Given the description of an element on the screen output the (x, y) to click on. 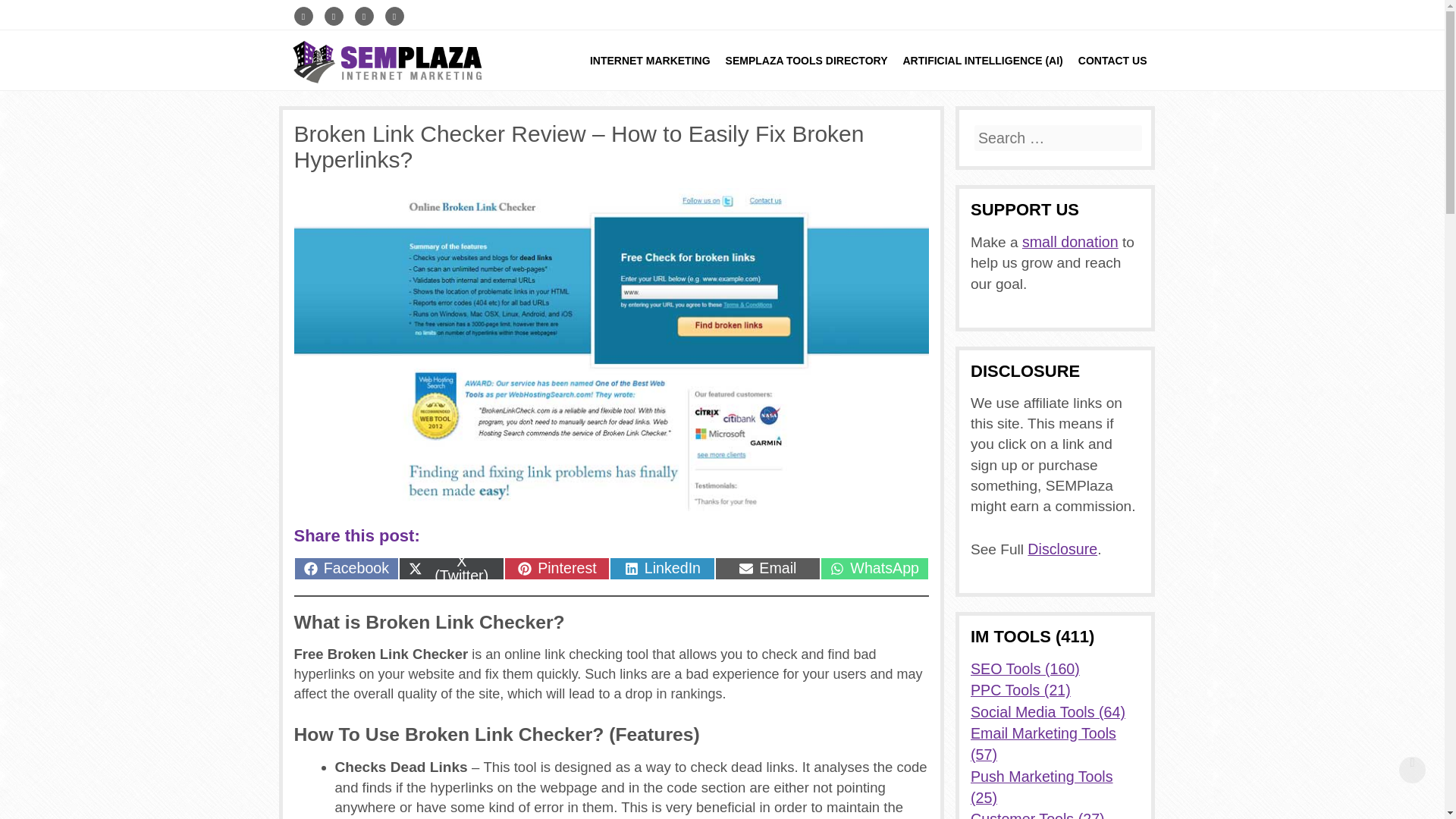
Pay Per Click Tools (1020, 689)
Search (24, 9)
Social Media Marketing Tools (1048, 711)
INTERNET MARKETING (662, 568)
Email Marketing Tools (649, 60)
Push Marketing Tools (1043, 743)
